Given the description of an element on the screen output the (x, y) to click on. 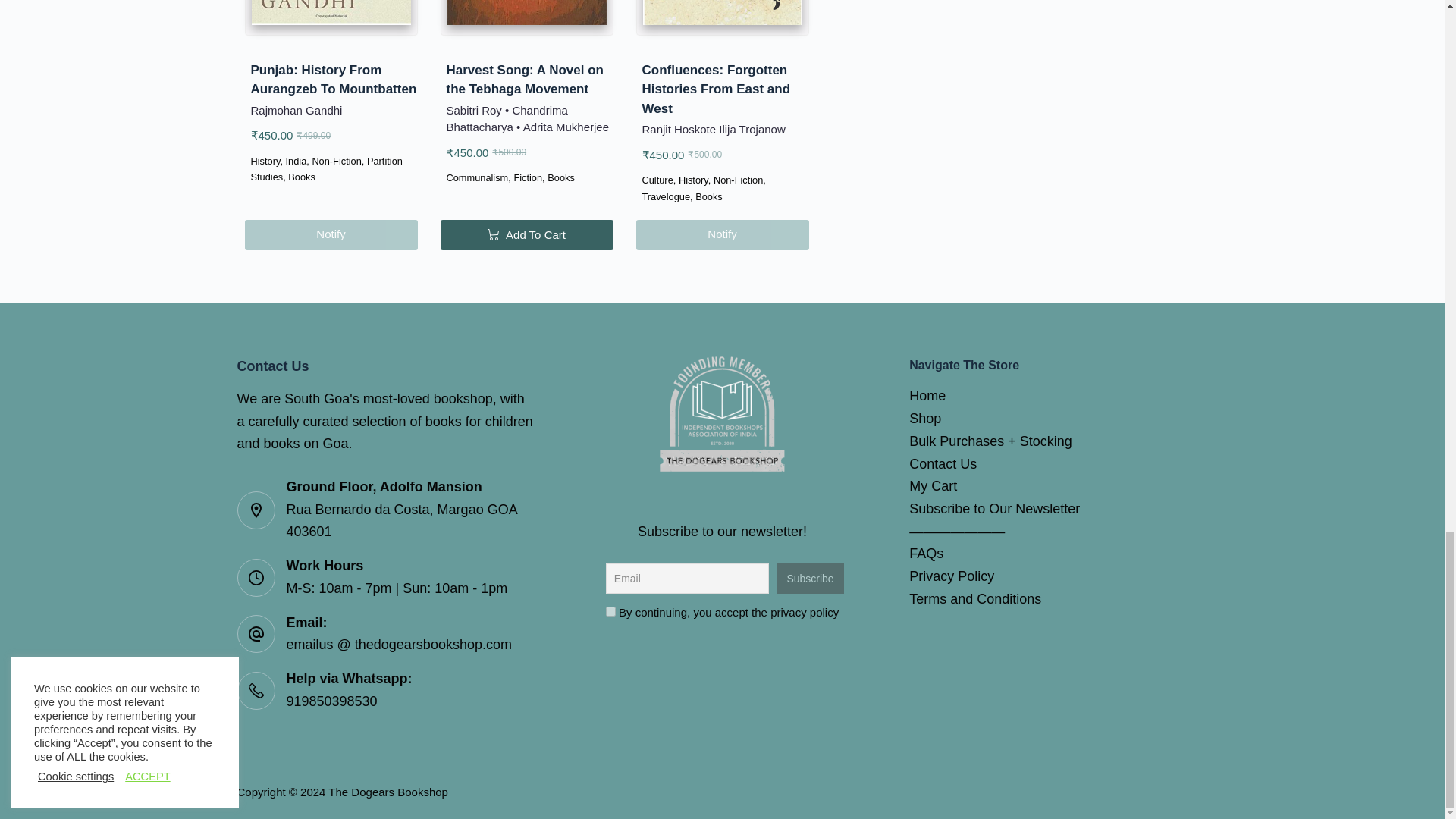
9788190618670 (722, 12)
9789383064083 (330, 12)
Harvest-Song (526, 12)
Subscribe (810, 578)
on (610, 611)
